Given the description of an element on the screen output the (x, y) to click on. 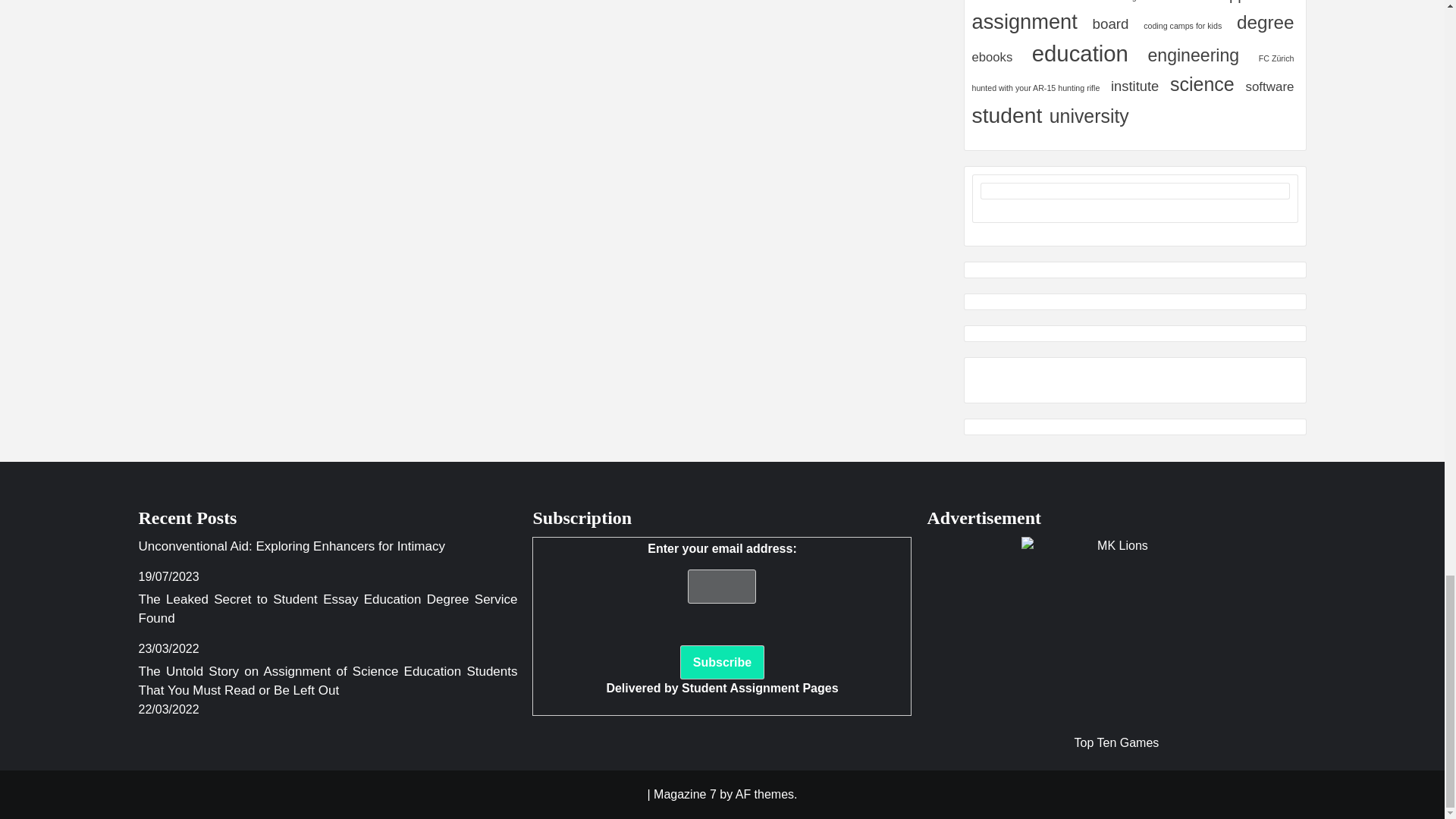
MK Lions (1116, 631)
Subscribe (721, 662)
